Given the description of an element on the screen output the (x, y) to click on. 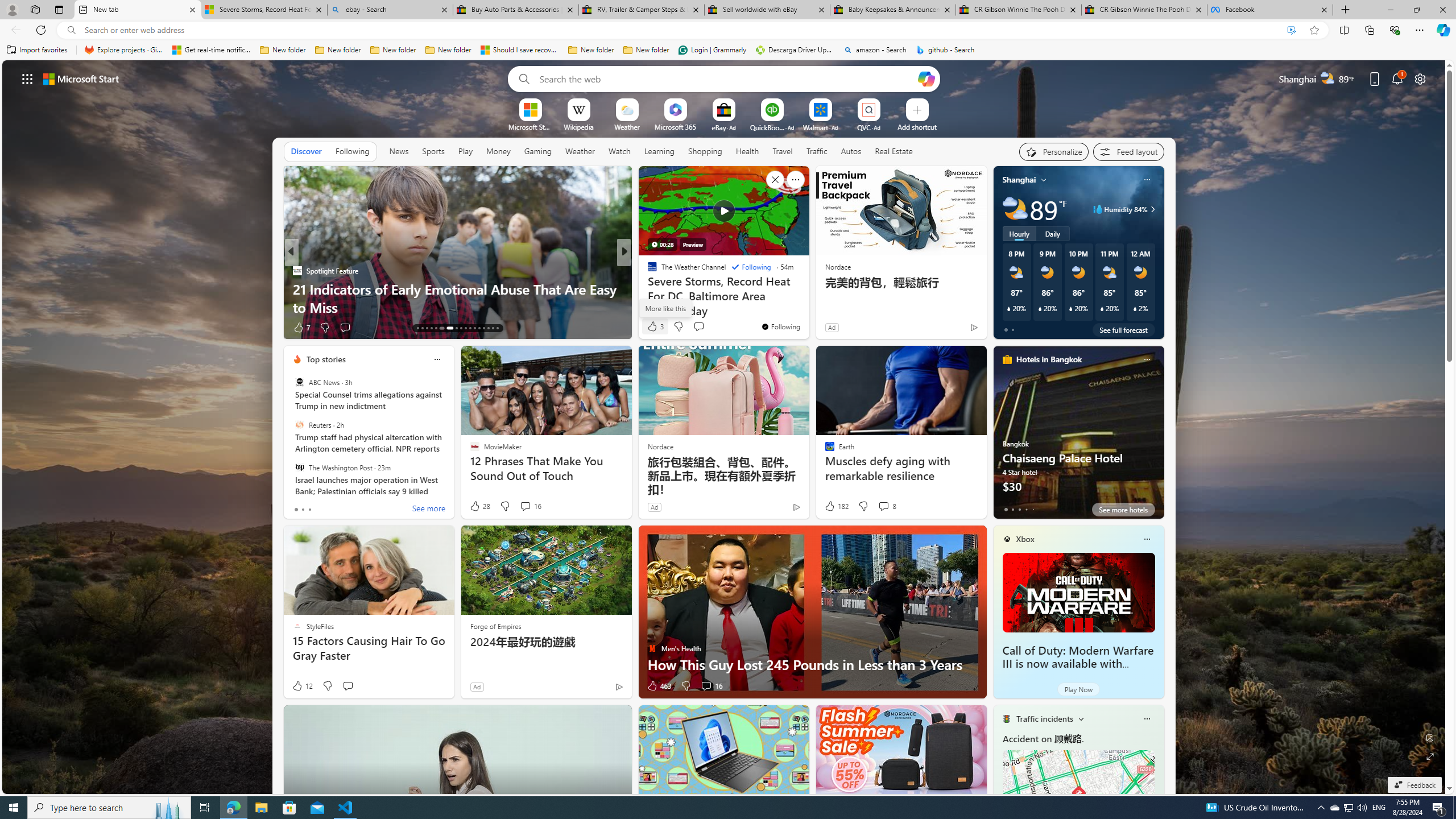
You're following The Weather Channel (780, 326)
AutomationID: tab-14 (422, 328)
View comments 8 Comment (883, 505)
AutomationID: backgroundImagePicture (723, 426)
AutomationID: tab-16 (431, 328)
Traffic Title Traffic Light (1005, 718)
Partly cloudy (1014, 208)
